Given the description of an element on the screen output the (x, y) to click on. 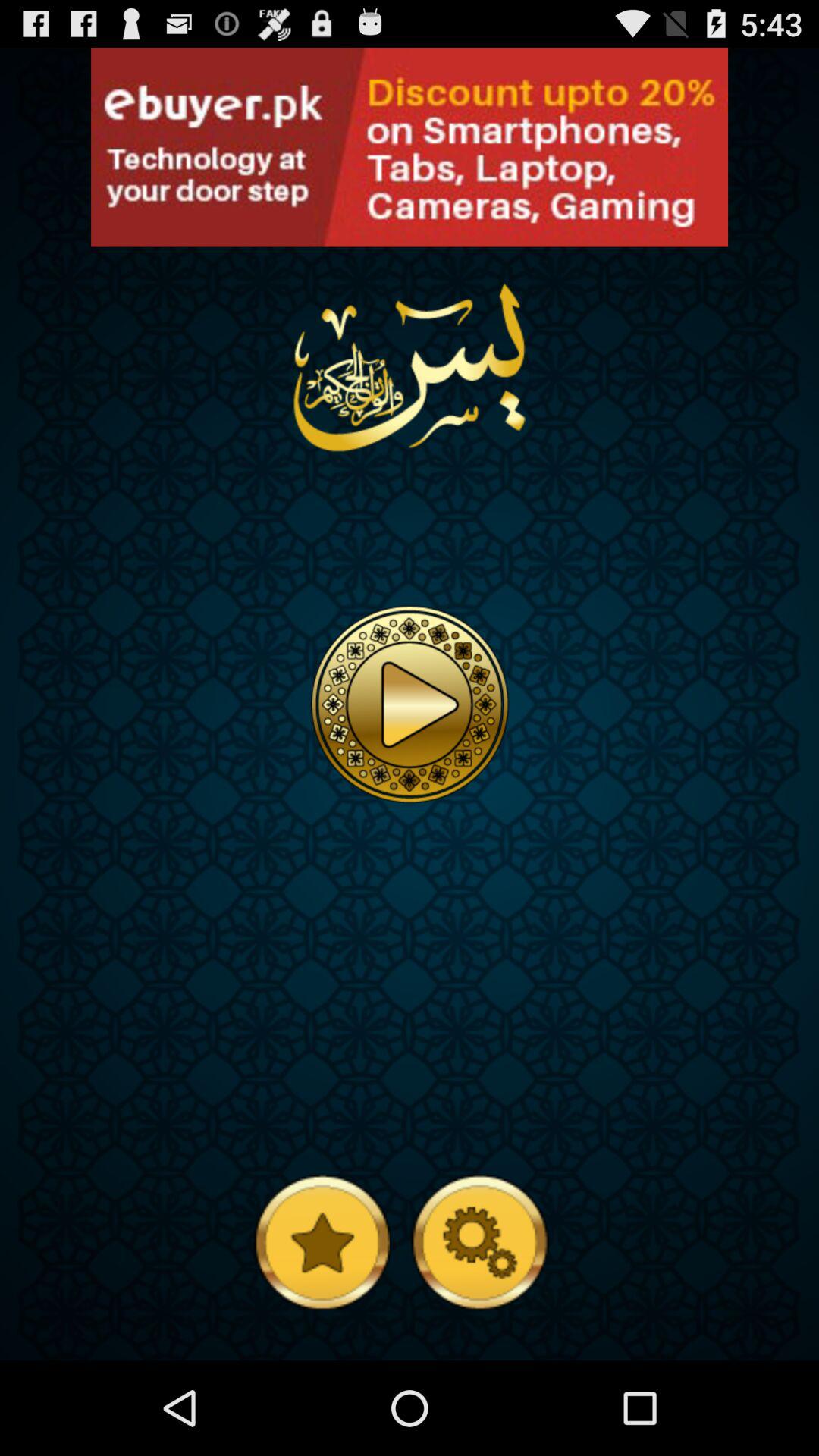
open settings (478, 1240)
